Given the description of an element on the screen output the (x, y) to click on. 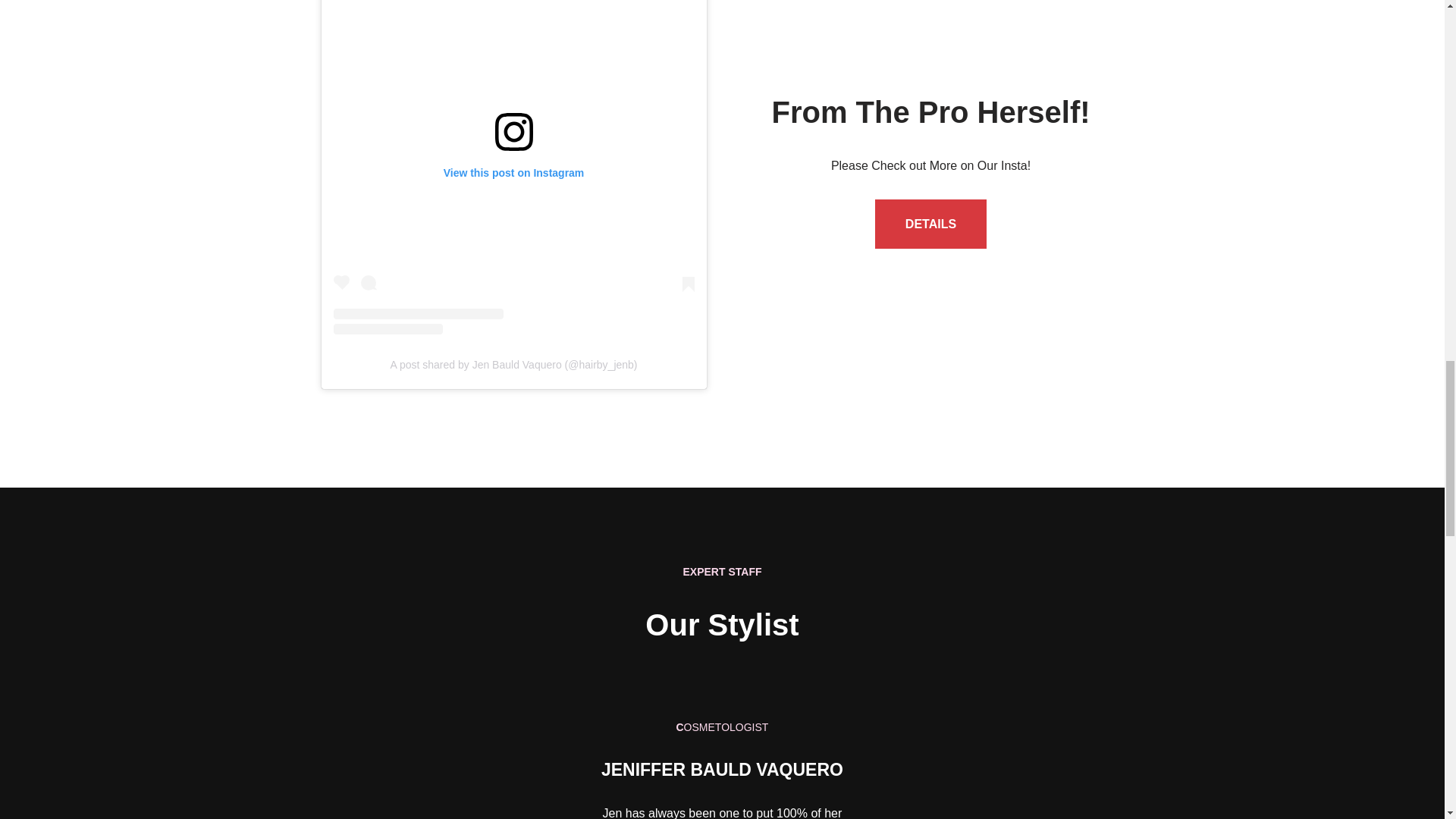
DETAILS (931, 224)
View this post on Instagram (513, 167)
